Given the description of an element on the screen output the (x, y) to click on. 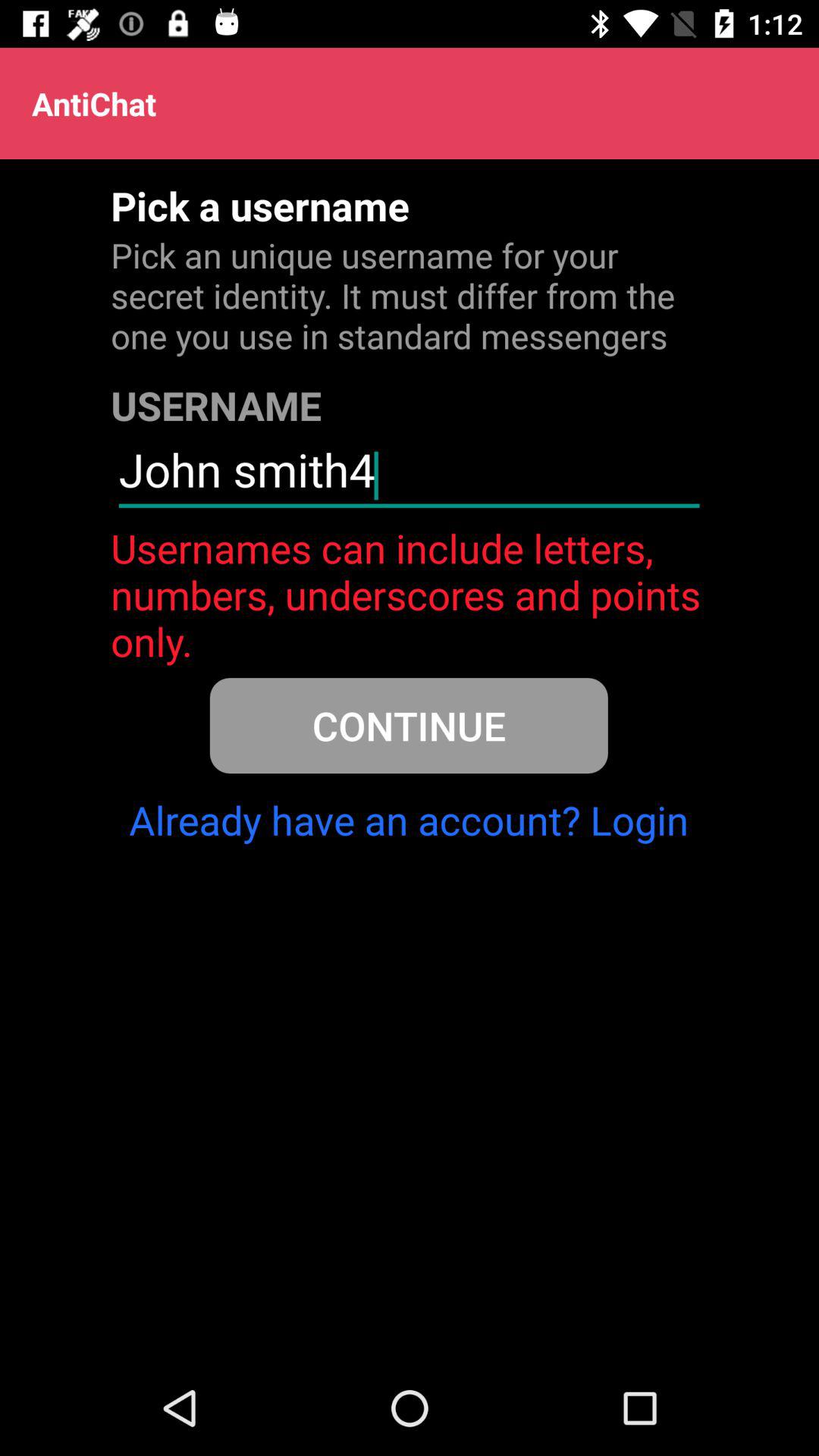
launch the item above the already have an item (408, 725)
